Given the description of an element on the screen output the (x, y) to click on. 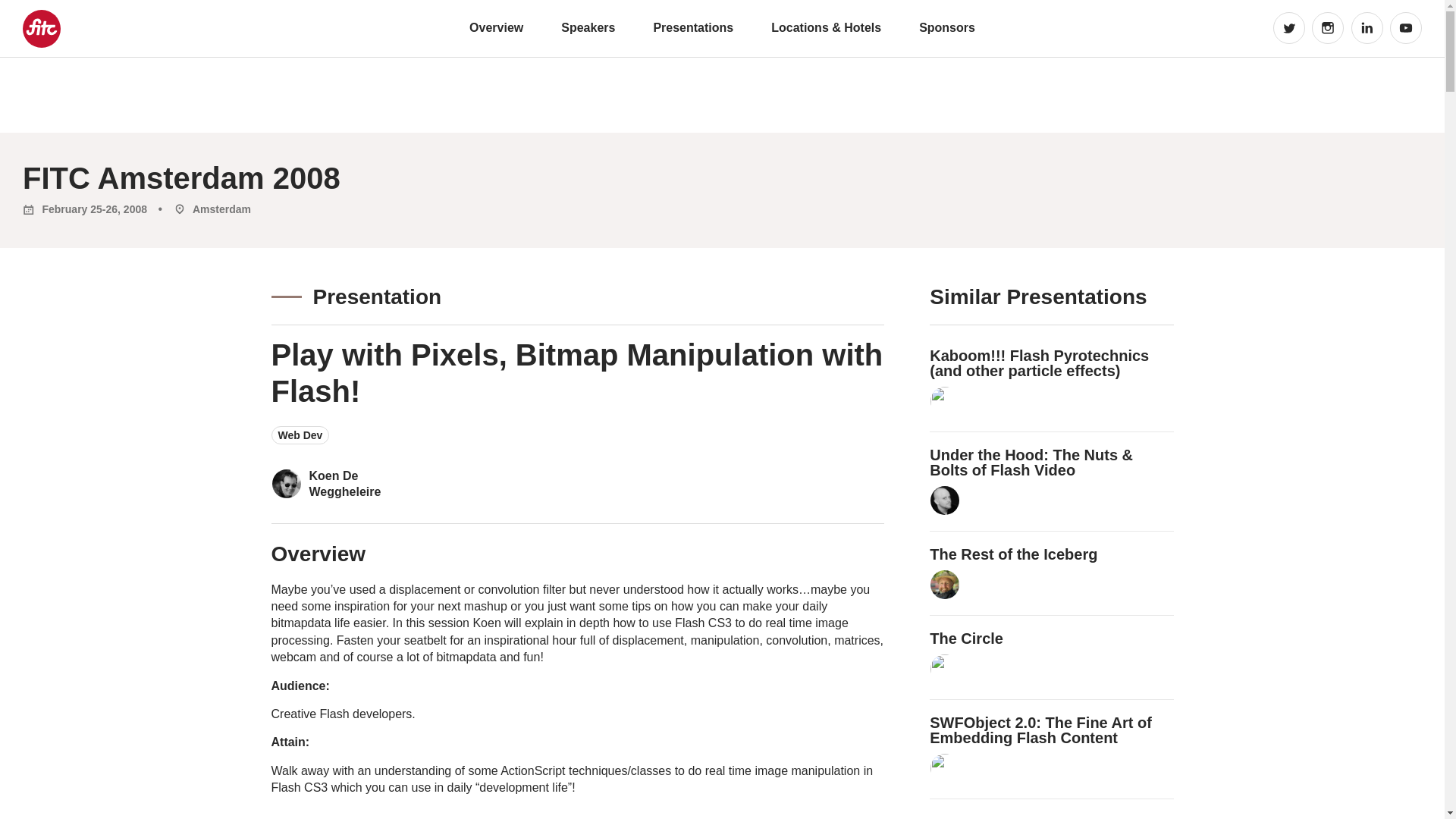
Overview (495, 27)
Jared Tarbell (944, 668)
instagram (1327, 28)
Speakers (587, 27)
Hoss Gifford (944, 584)
Koen De Weggheleire (371, 484)
Presentations (692, 27)
youtube (1406, 28)
Seb Lee-Delisle (944, 400)
linkedin (1367, 28)
